Given the description of an element on the screen output the (x, y) to click on. 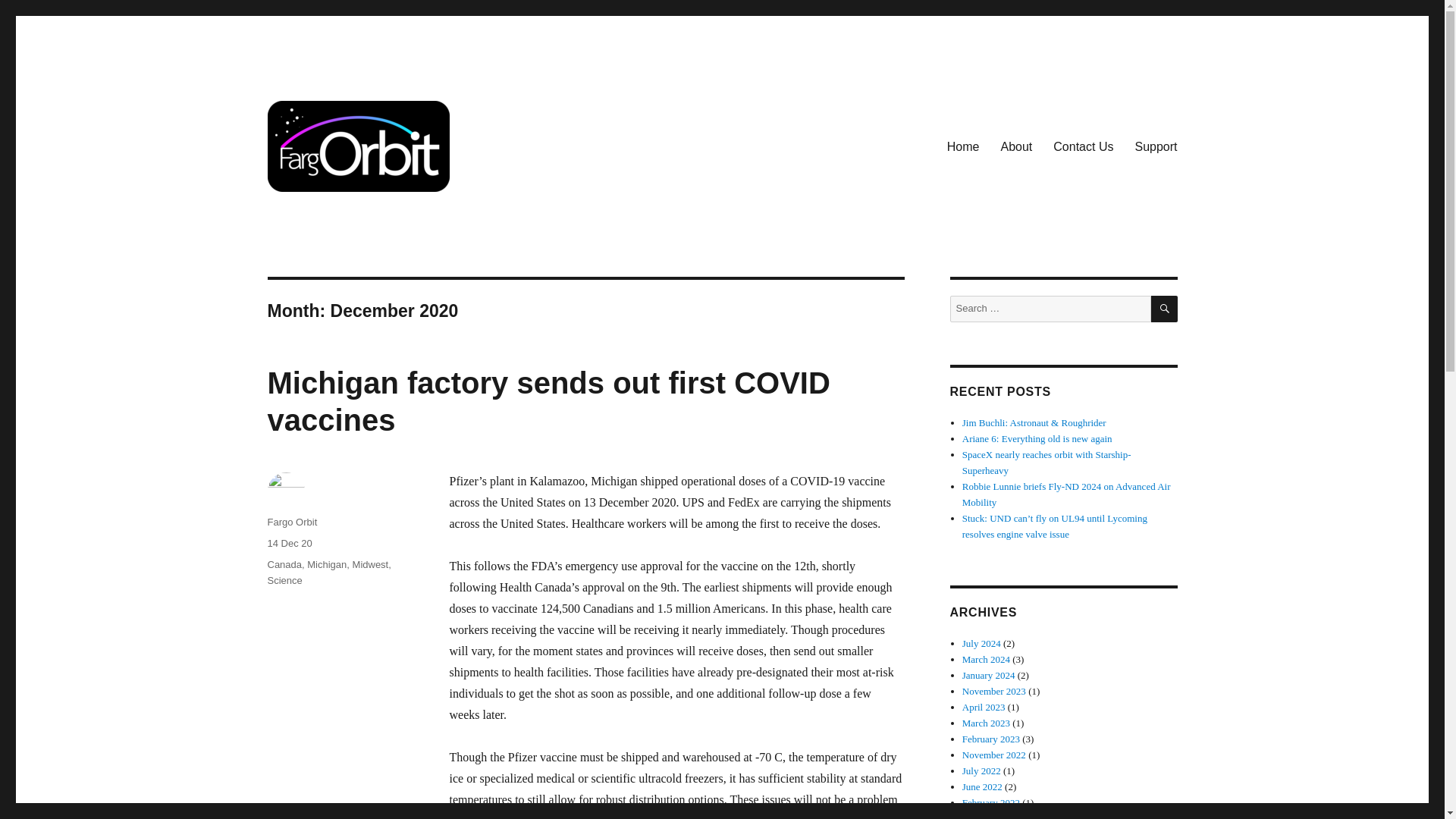
SEARCH (1164, 308)
January 2024 (988, 674)
Michigan factory sends out first COVID vaccines (547, 401)
June 2022 (982, 786)
Michigan (326, 564)
Home (963, 146)
Midwest (370, 564)
Contact Us (1083, 146)
July 2024 (981, 643)
Fargo Orbit (323, 215)
